Given the description of an element on the screen output the (x, y) to click on. 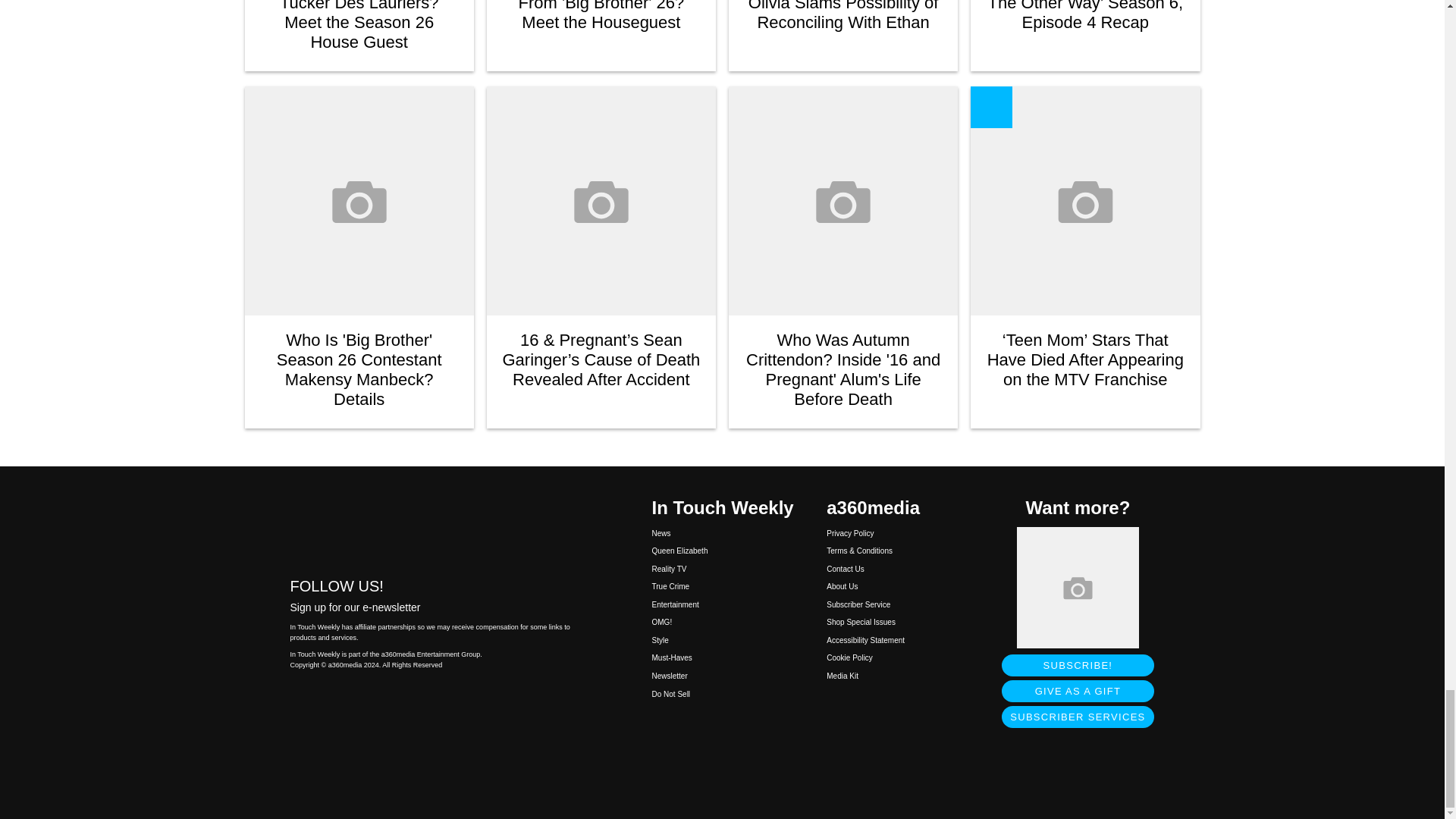
Home (434, 526)
